Given the description of an element on the screen output the (x, y) to click on. 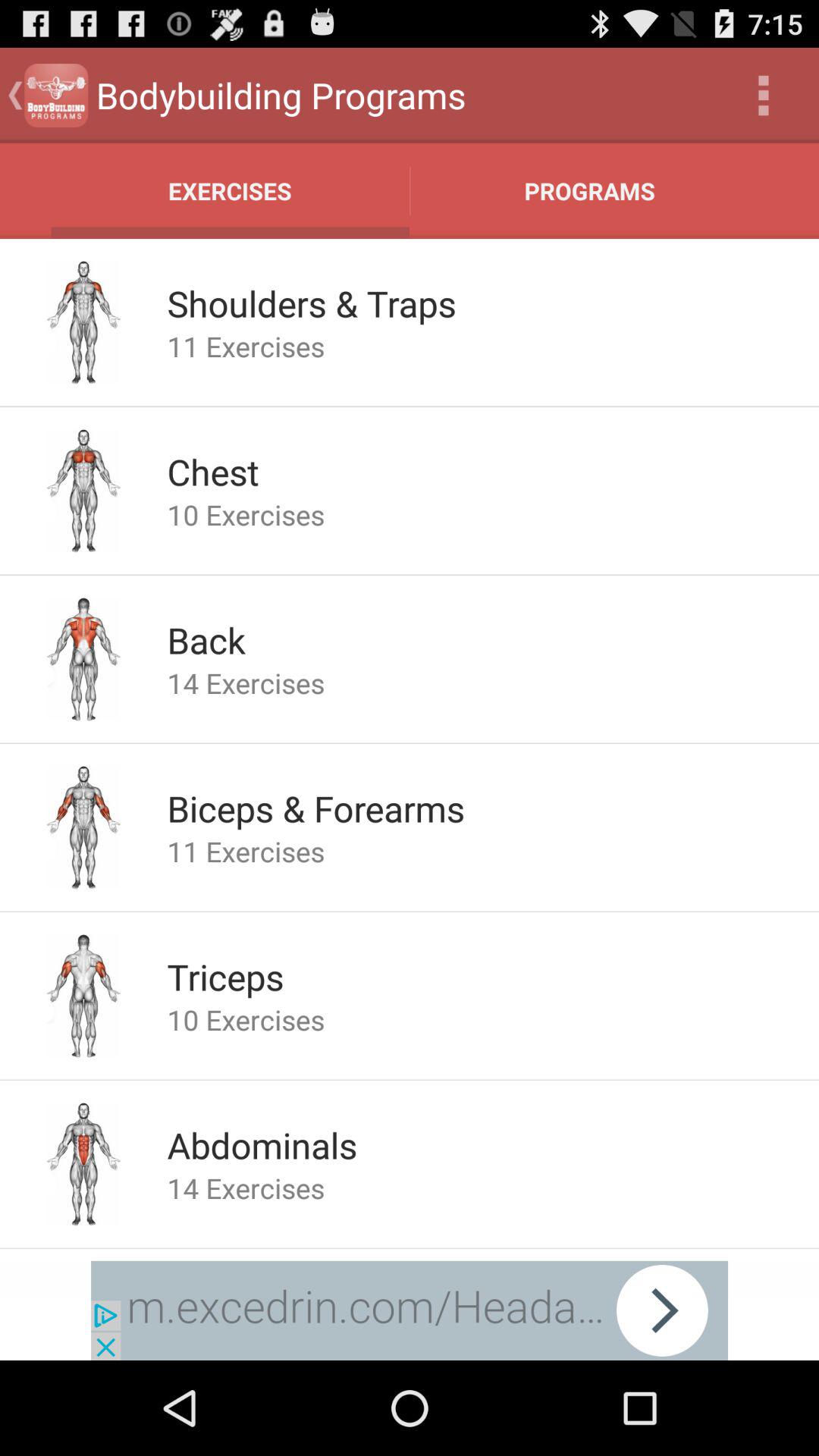
announcement (409, 1310)
